Given the description of an element on the screen output the (x, y) to click on. 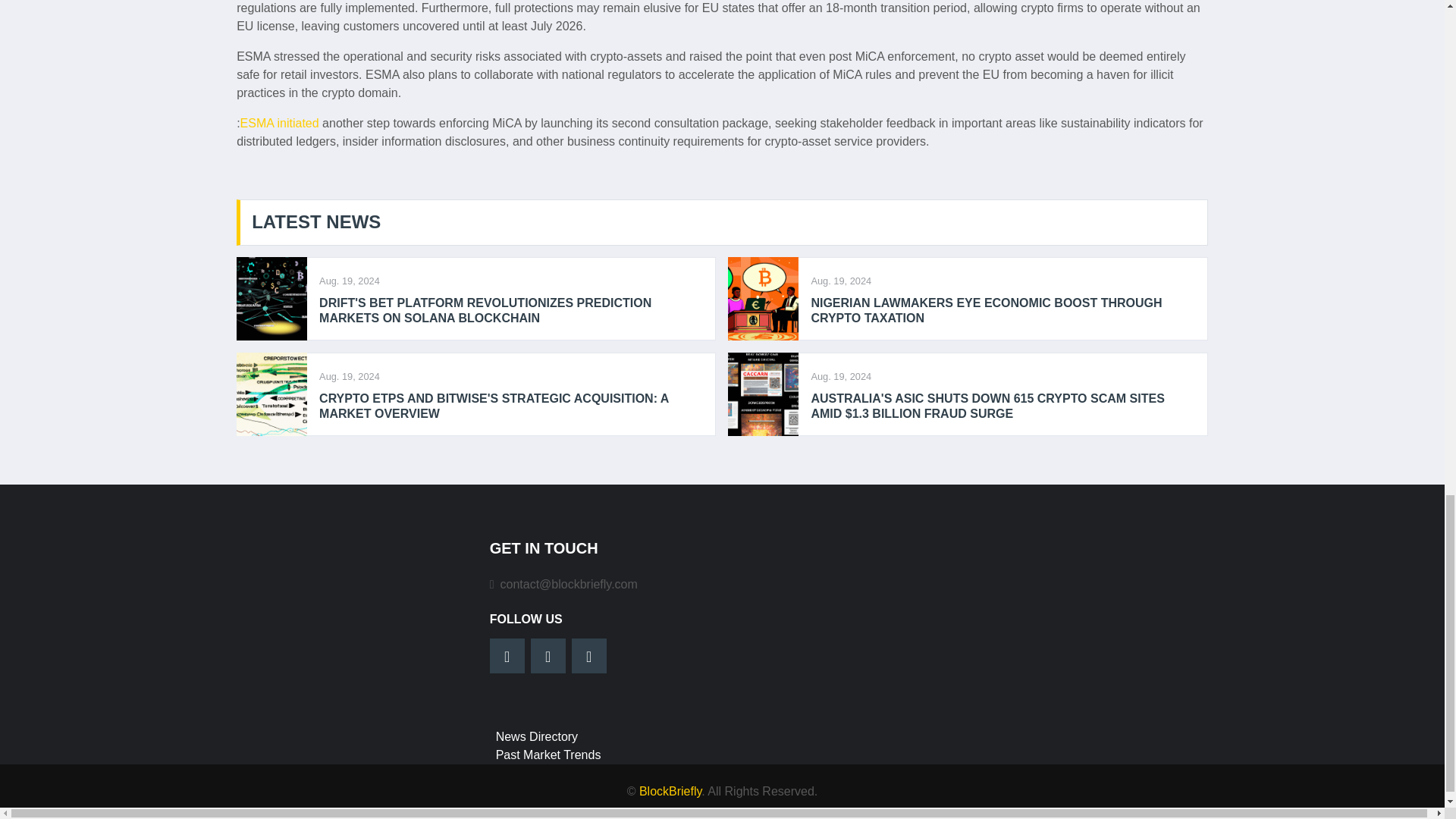
Aug. 19, 2024 (349, 279)
ESMA initiated (279, 123)
Aug. 19, 2024 (840, 375)
Aug. 19, 2024 (349, 375)
Aug. 19, 2024 (840, 279)
Past Market Trends (548, 754)
BlockBriefly (670, 790)
